Given the description of an element on the screen output the (x, y) to click on. 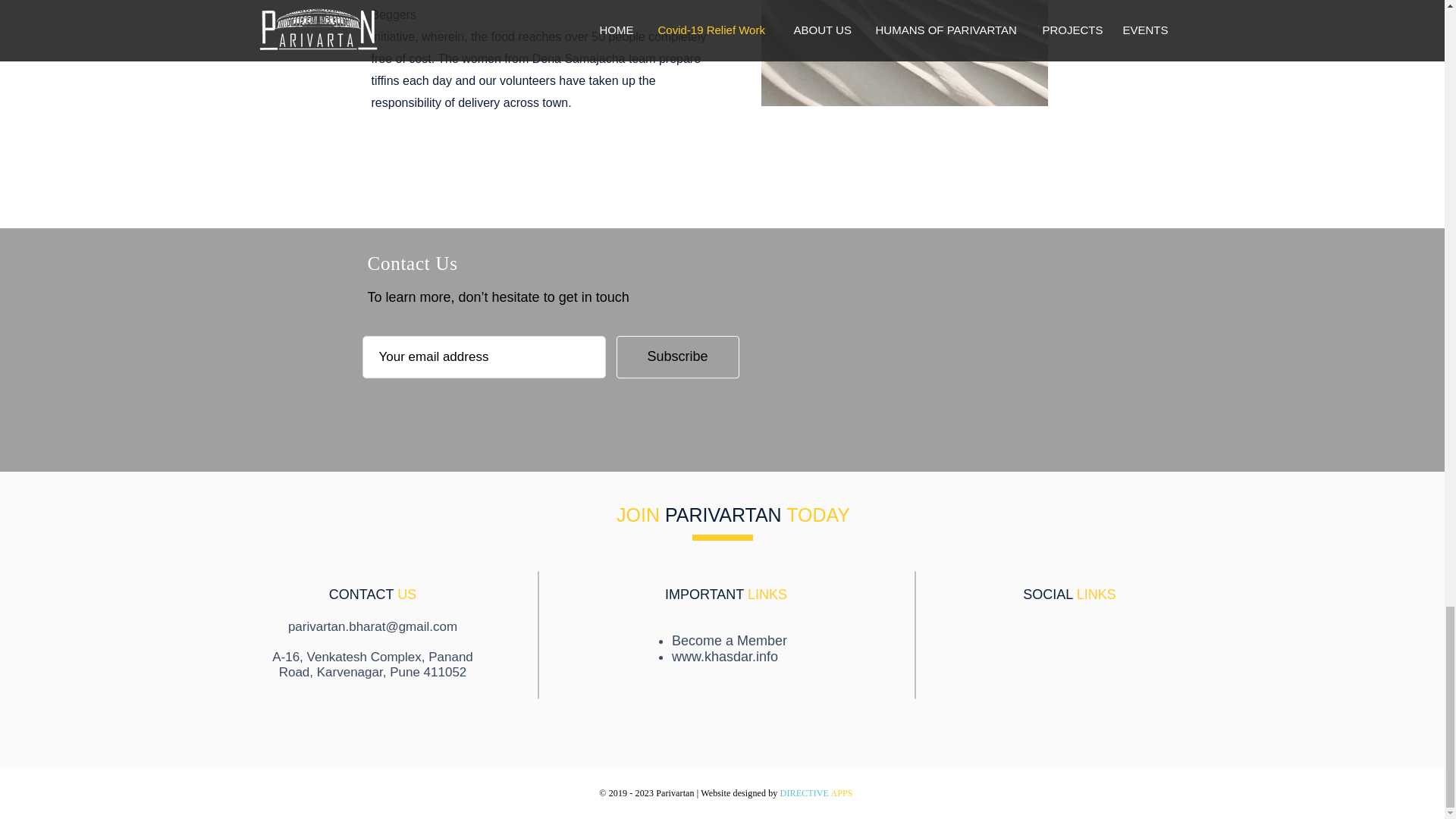
www.khasdar.info (724, 656)
Subscribe (676, 356)
Become a Member (729, 640)
DIRECTIVE APPS (816, 792)
